Given the description of an element on the screen output the (x, y) to click on. 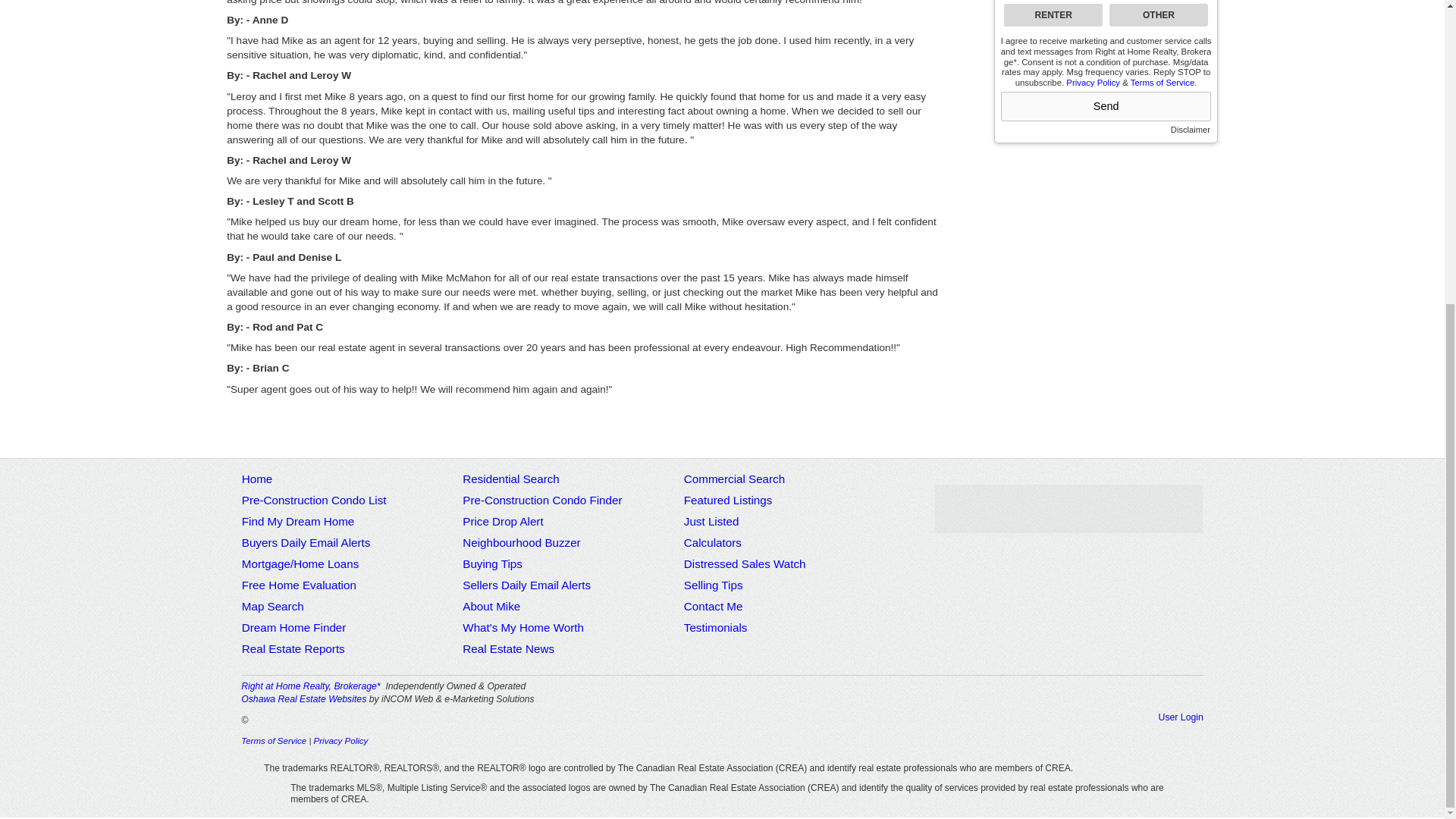
Send (1106, 106)
Privacy Policy (1091, 81)
